Given the description of an element on the screen output the (x, y) to click on. 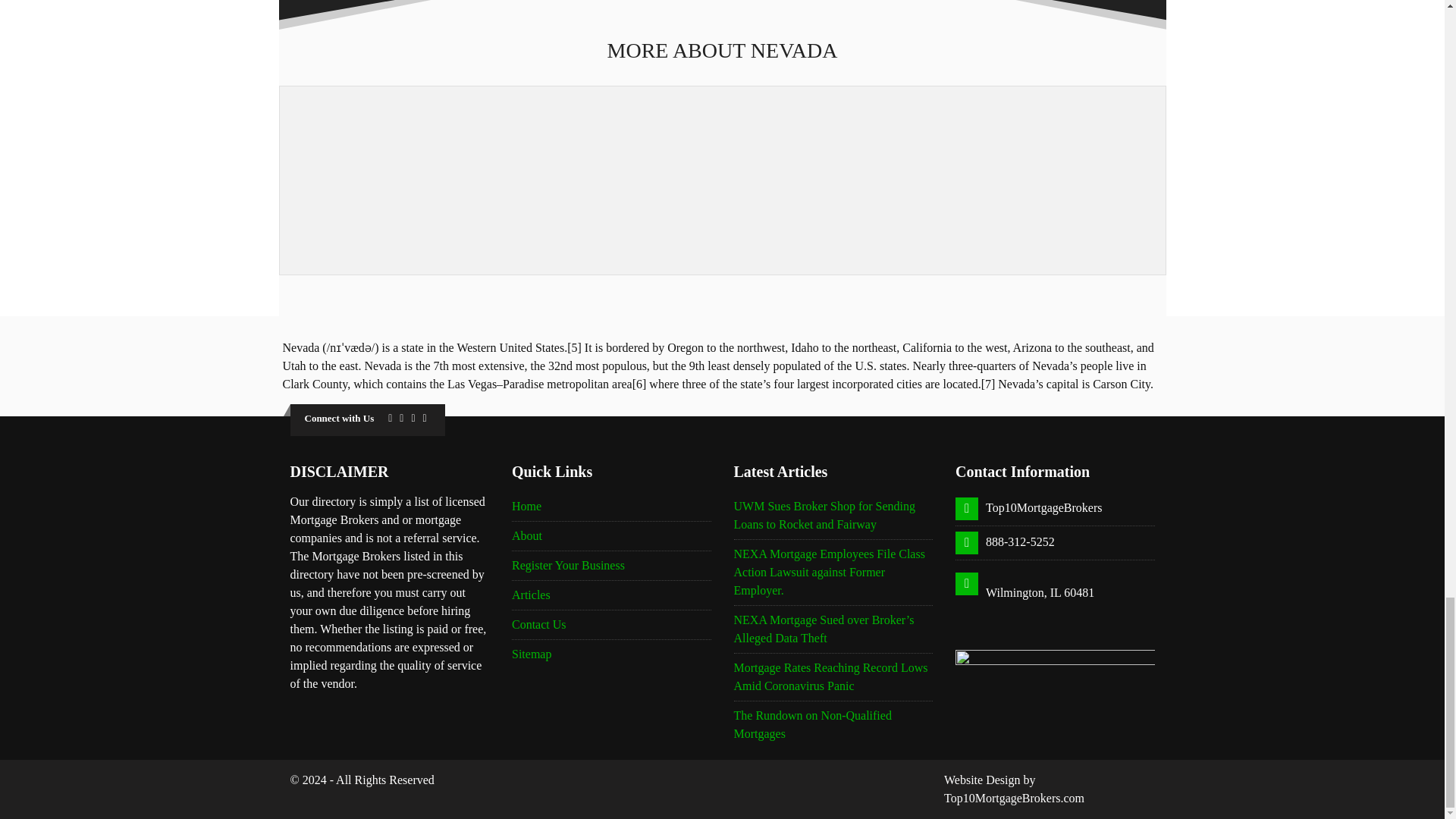
About (526, 535)
Articles (531, 594)
Contact Us (539, 624)
Register Your Business (568, 564)
Home (526, 505)
